Given the description of an element on the screen output the (x, y) to click on. 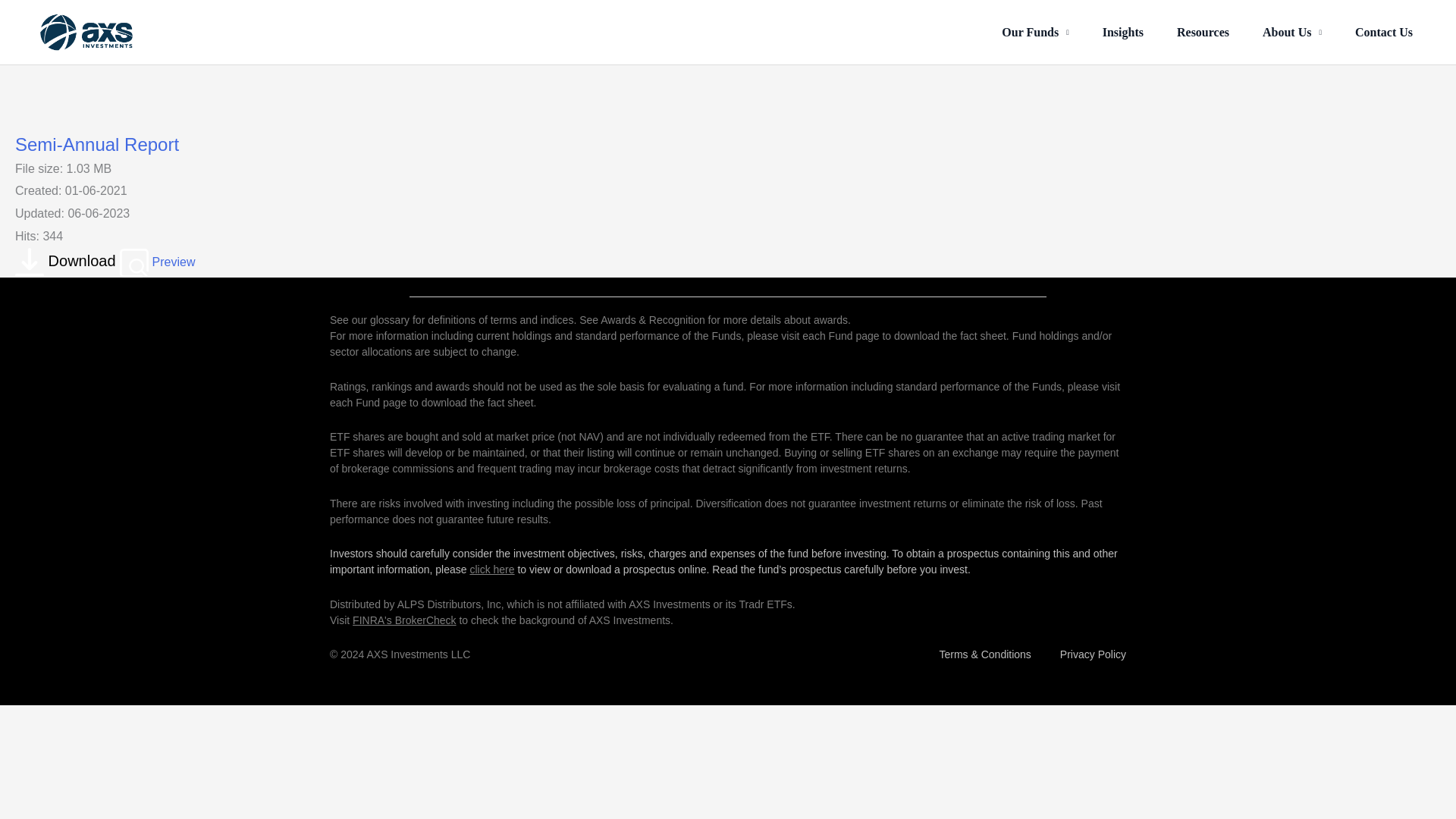
Our Funds (1034, 31)
About Us (1292, 31)
Insights (1123, 31)
Semi-Annual Report (66, 260)
Contact Us (1383, 31)
Resources (1203, 31)
